Given the description of an element on the screen output the (x, y) to click on. 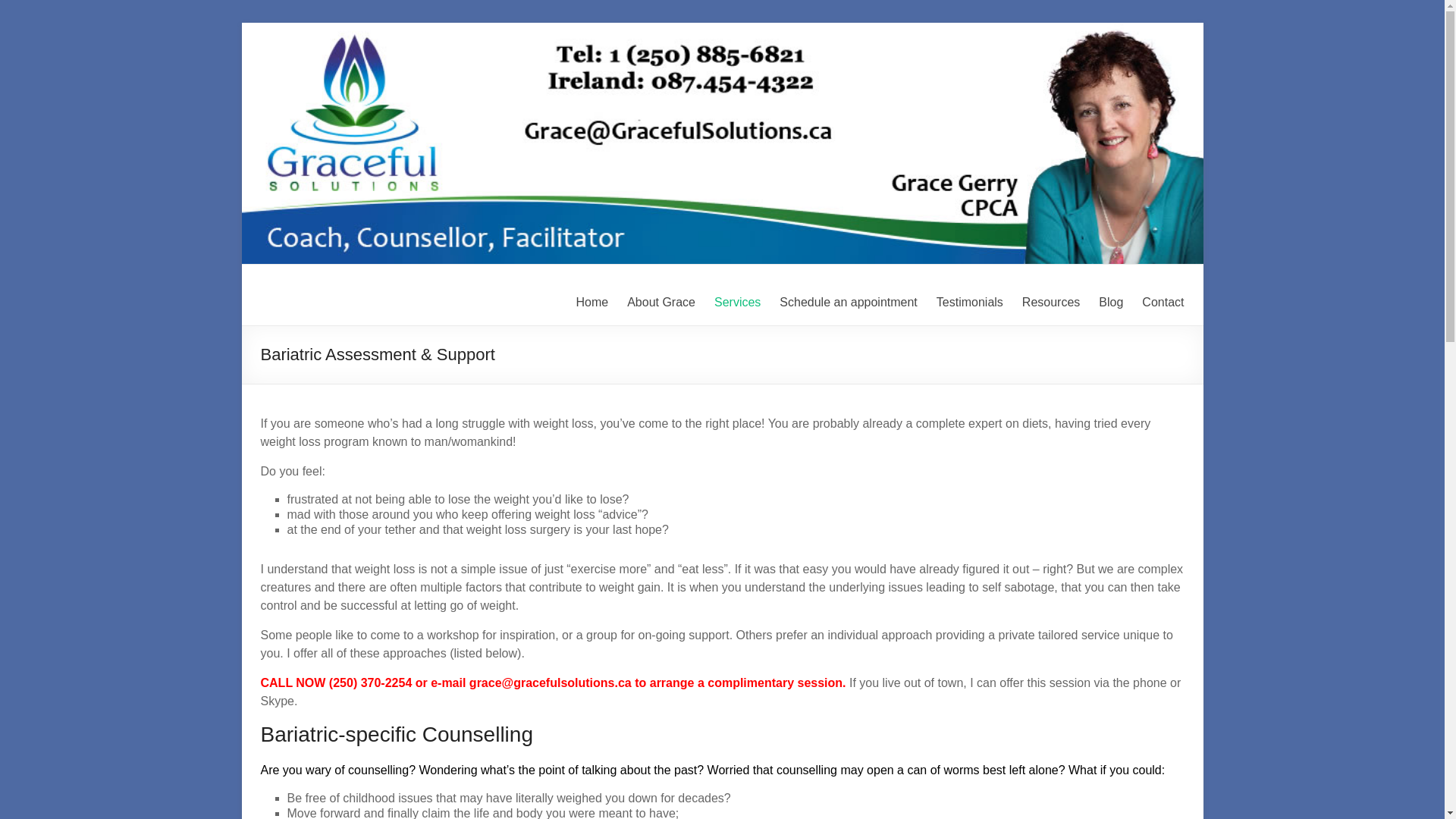
Resources (1051, 302)
About Grace (661, 302)
Testimonials (969, 302)
Contact (1162, 302)
Schedule an appointment (847, 302)
Services (737, 302)
Home (591, 302)
Blog (1110, 302)
Graceful Solutions (371, 296)
Graceful Solutions (371, 296)
